Given the description of an element on the screen output the (x, y) to click on. 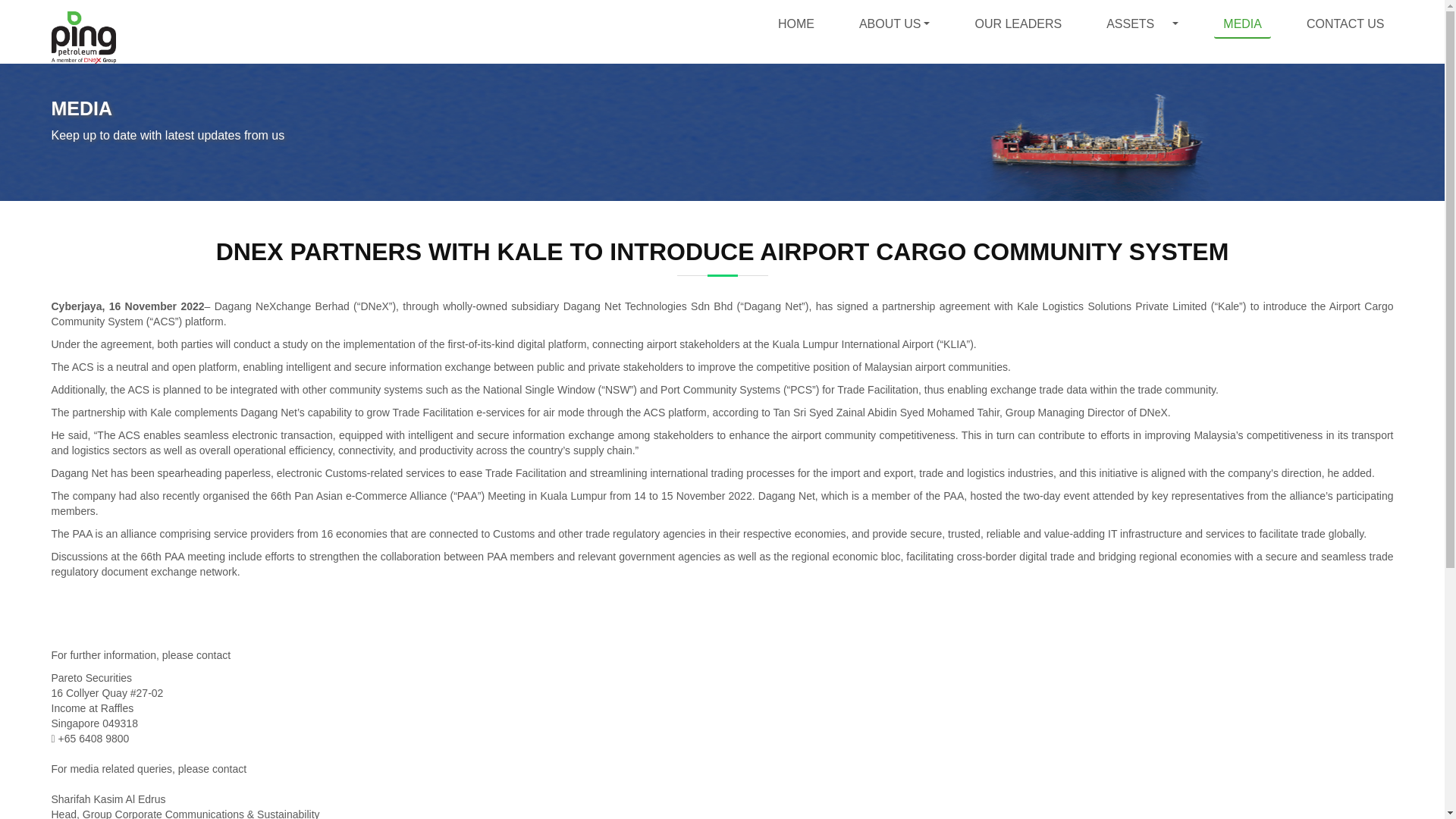
CONTACT US (1345, 23)
HOME (796, 23)
MEDIA (1242, 24)
OUR LEADERS (1017, 23)
ASSETS (1130, 23)
ABOUT US (894, 23)
